Given the description of an element on the screen output the (x, y) to click on. 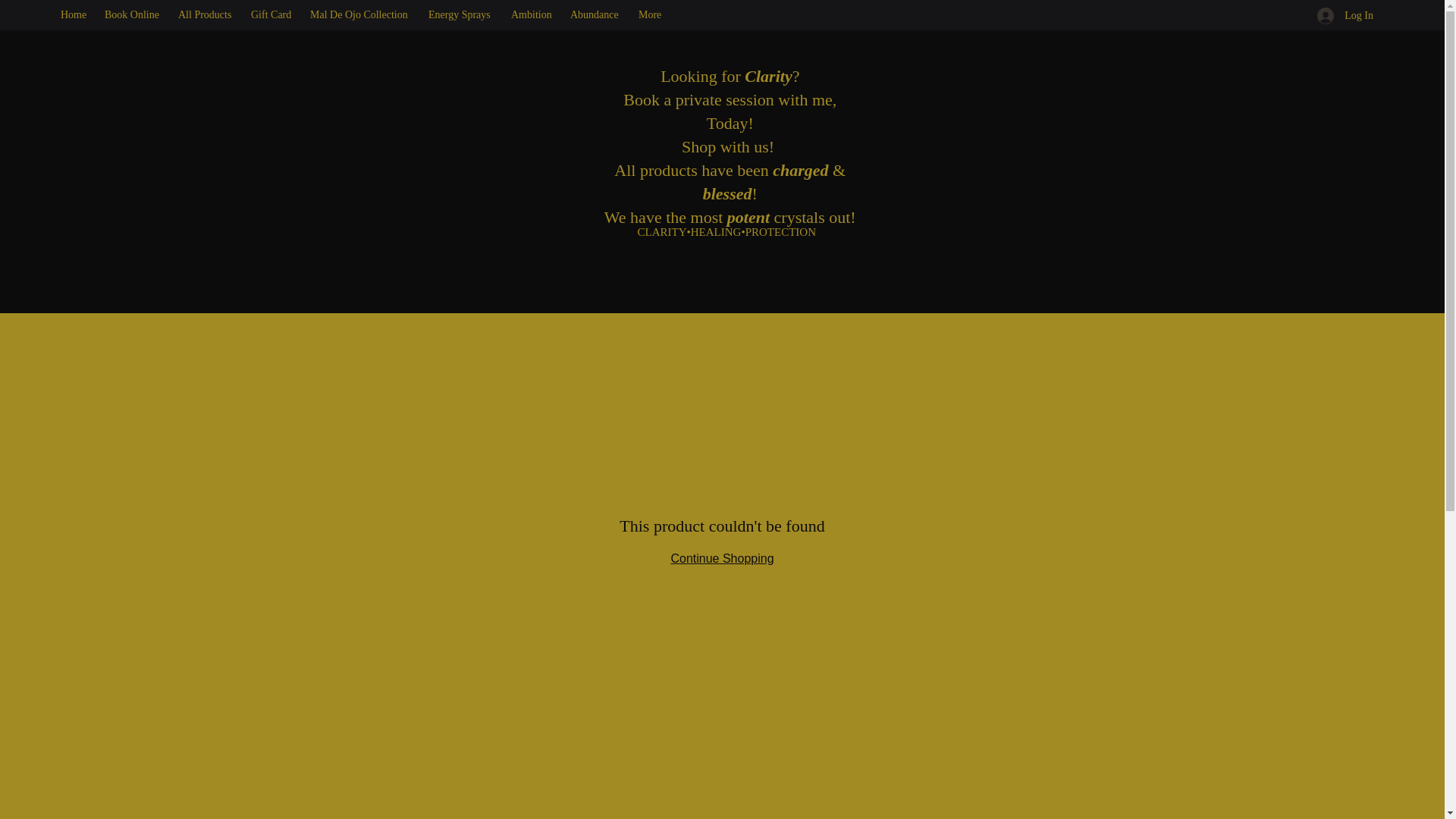
All Products (206, 15)
Abundance (596, 15)
Gift Card (272, 15)
Book Online (133, 15)
Continue Shopping (721, 558)
Mal De Ojo Collection (361, 15)
Log In (1345, 15)
Home (74, 15)
Ambition (532, 15)
Energy Sprays (461, 15)
